Given the description of an element on the screen output the (x, y) to click on. 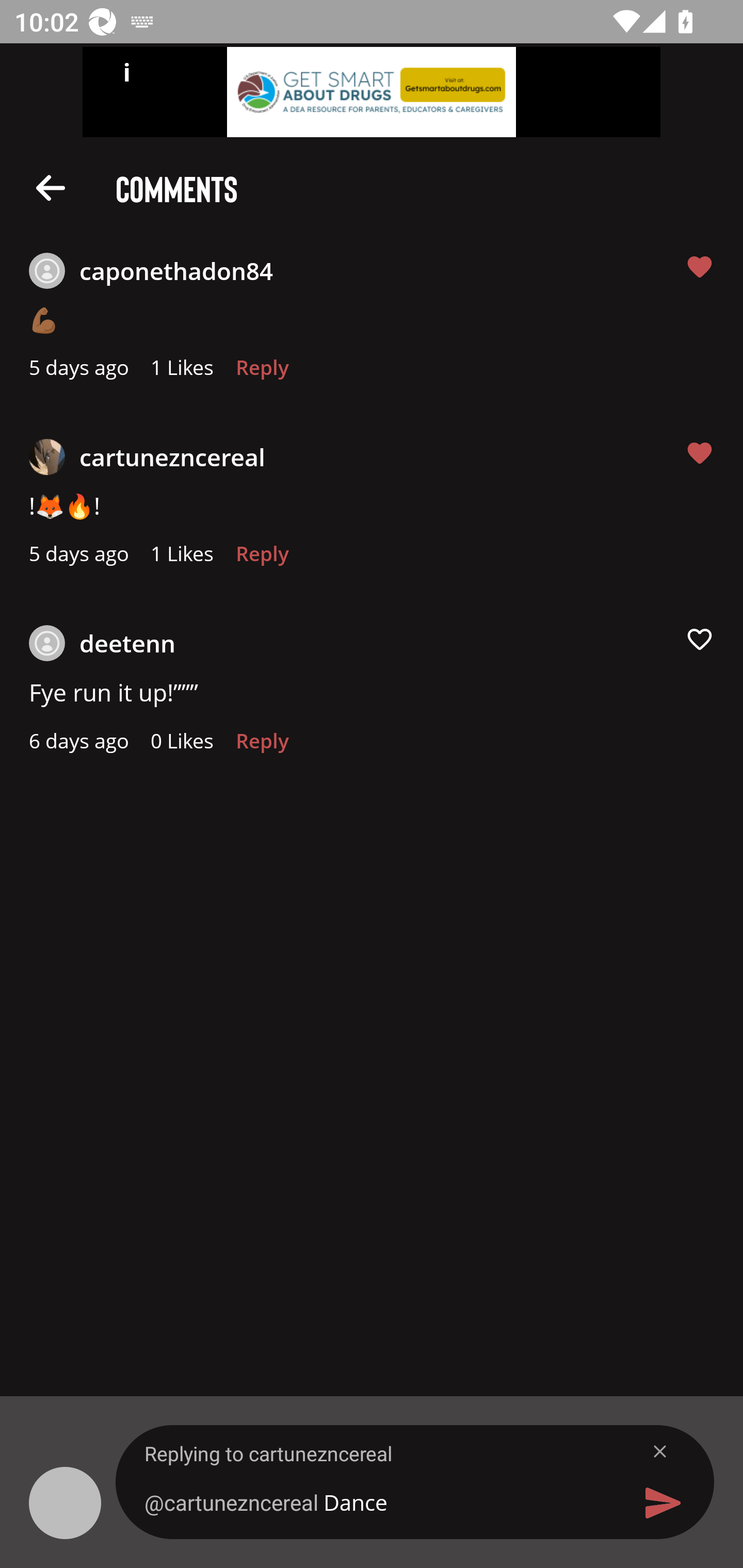
Description (50, 187)
Reply (261, 372)
Reply (261, 558)
Reply (261, 746)
Dance (378, 1502)
